Given the description of an element on the screen output the (x, y) to click on. 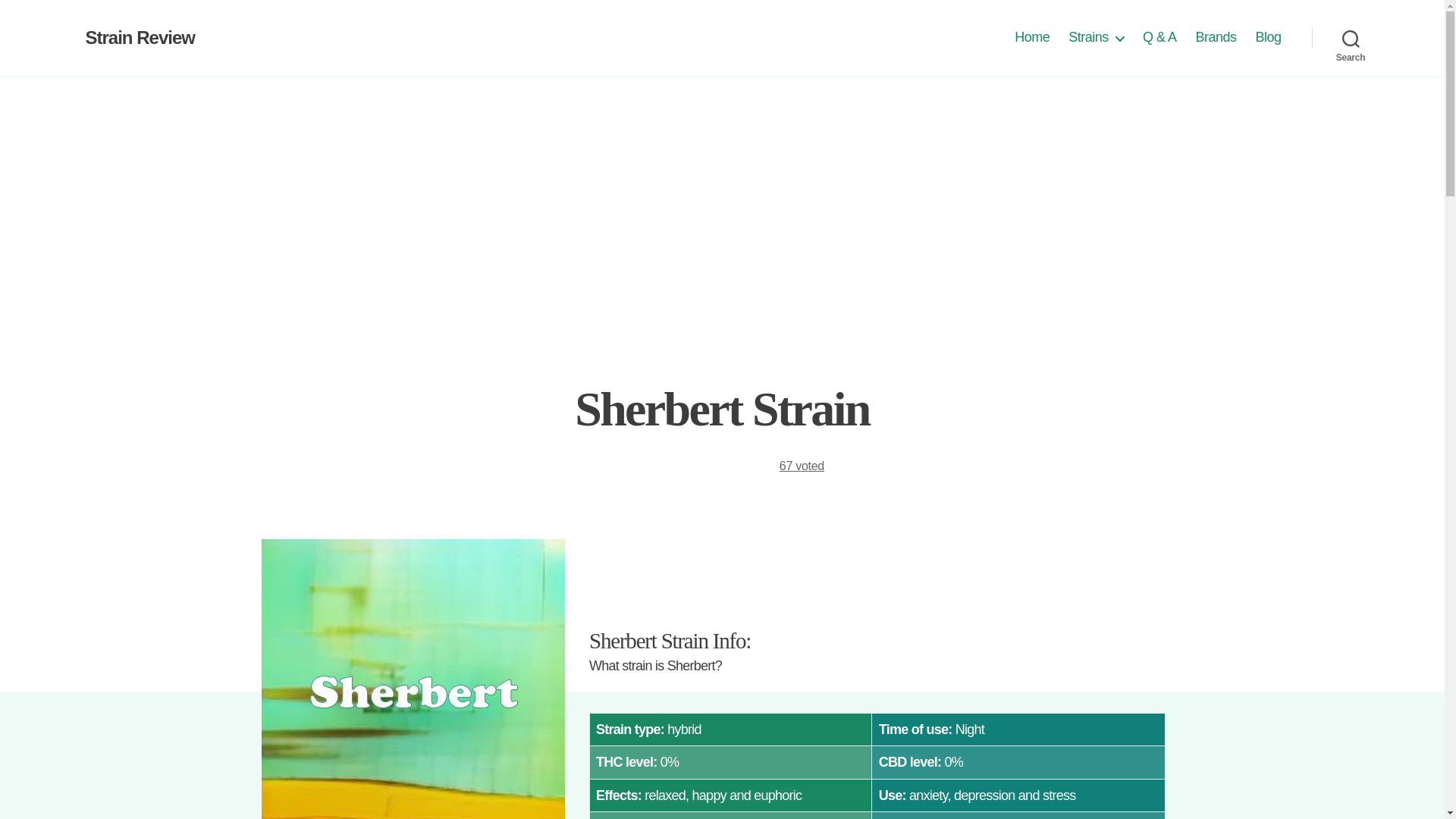
Blog (1268, 37)
Strain Review (138, 37)
Strains (1096, 37)
Brands (1215, 37)
Home (1031, 37)
Search (1350, 37)
